Given the description of an element on the screen output the (x, y) to click on. 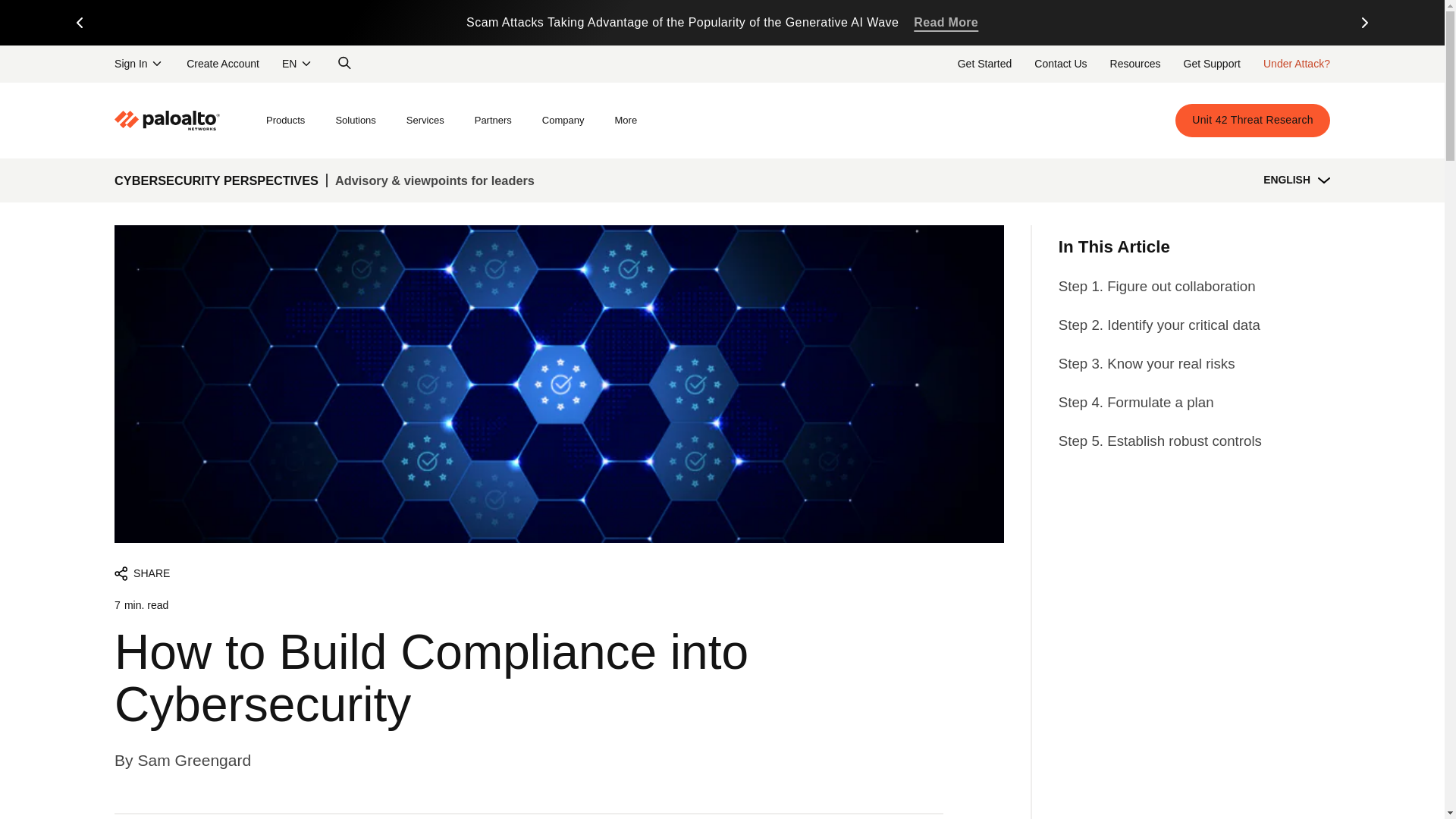
Under Attack? (1296, 63)
Contact Us (1060, 63)
Resources (1135, 63)
Create Account (222, 63)
EN (297, 63)
Read More (946, 22)
Sign In (138, 63)
Get Started (984, 63)
Get Support (1212, 63)
